Given the description of an element on the screen output the (x, y) to click on. 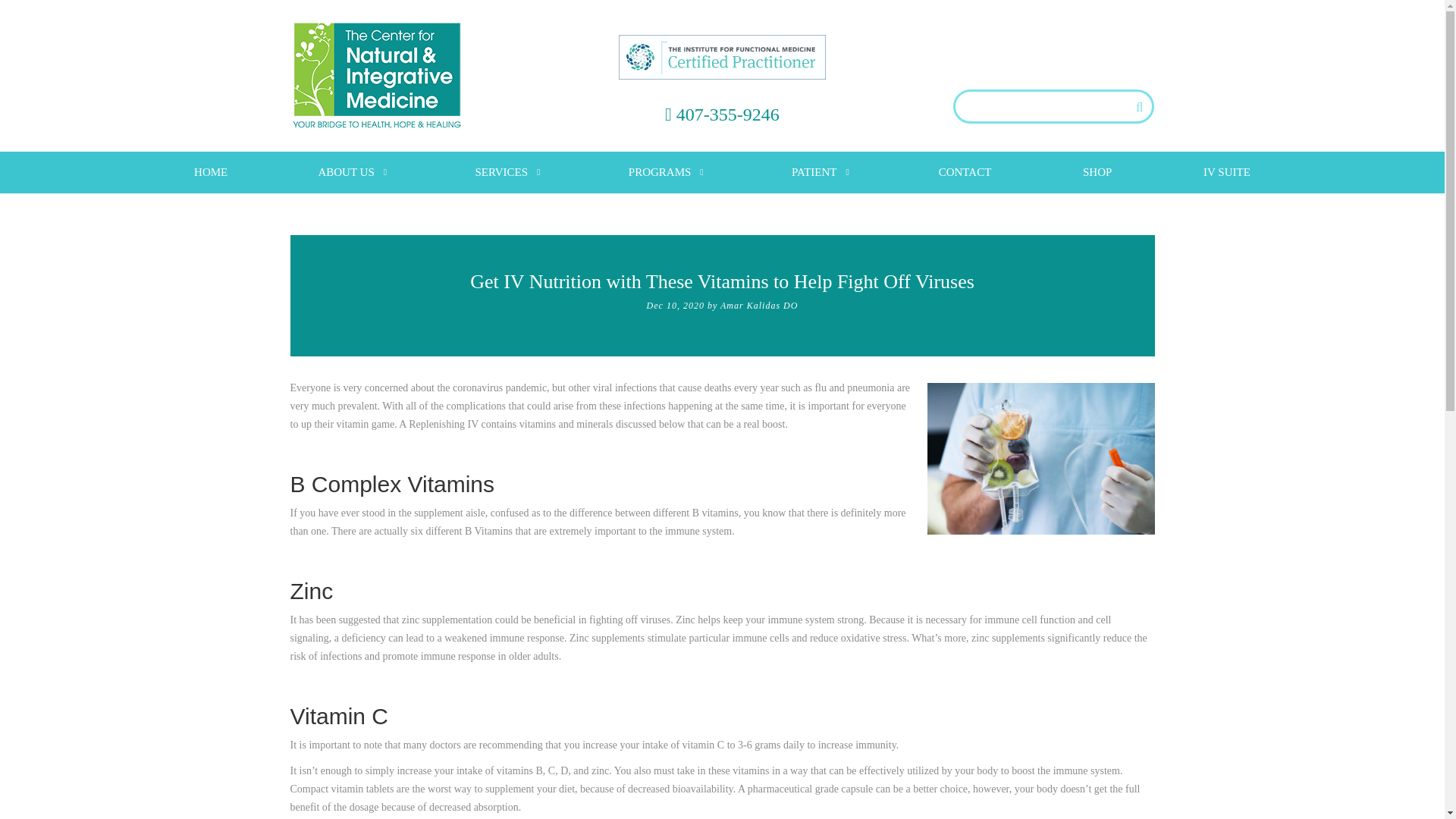
PATIENT (819, 172)
ABOUT US (351, 172)
PROGRAMS (665, 172)
SERVICES (507, 172)
SHOP (1096, 172)
407-355-9246 (727, 114)
HOME (211, 172)
IV SUITE (1227, 172)
Submit Request (721, 112)
CONTACT (964, 172)
